Given the description of an element on the screen output the (x, y) to click on. 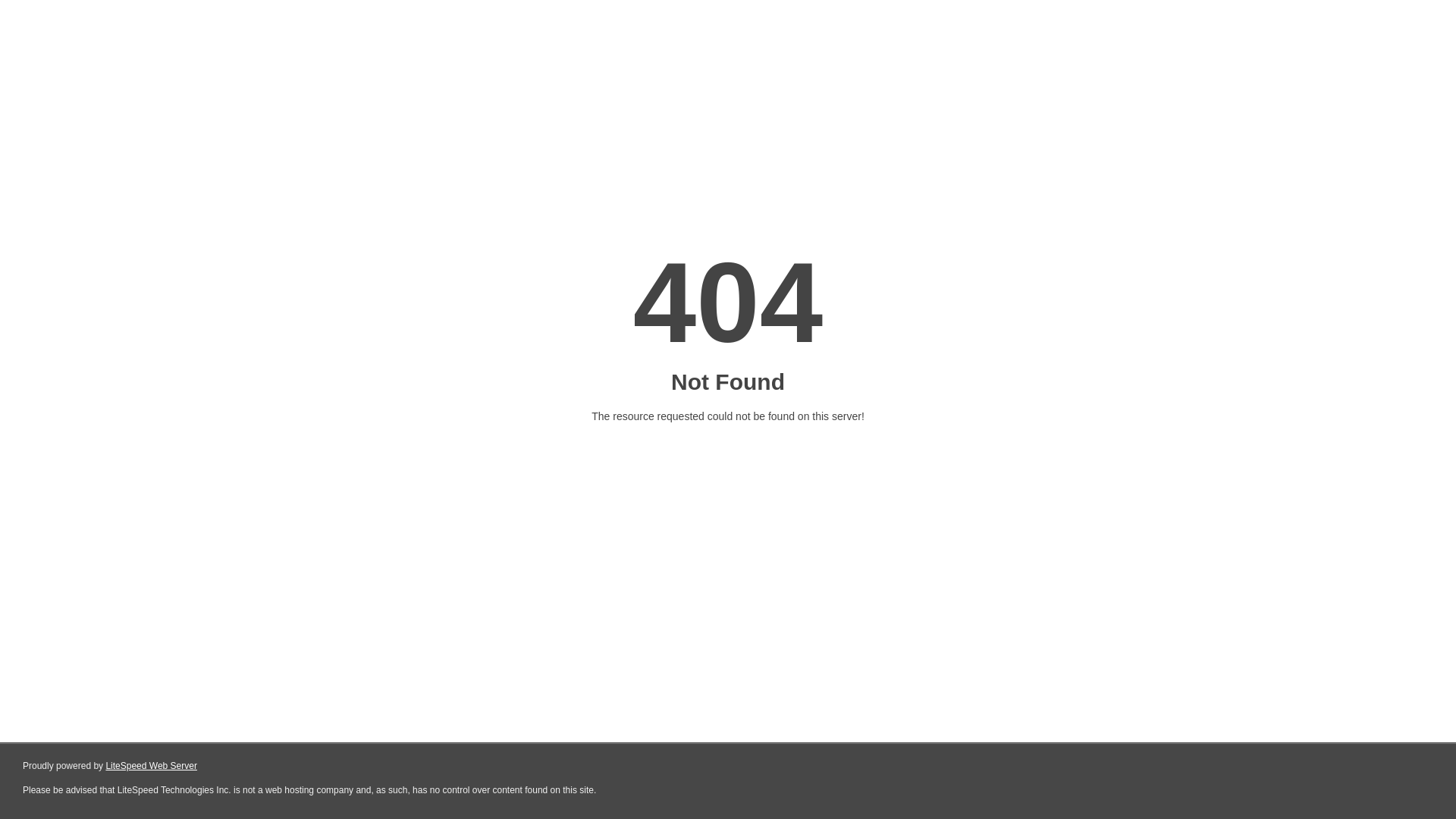
LiteSpeed Web Server Element type: text (151, 765)
